Given the description of an element on the screen output the (x, y) to click on. 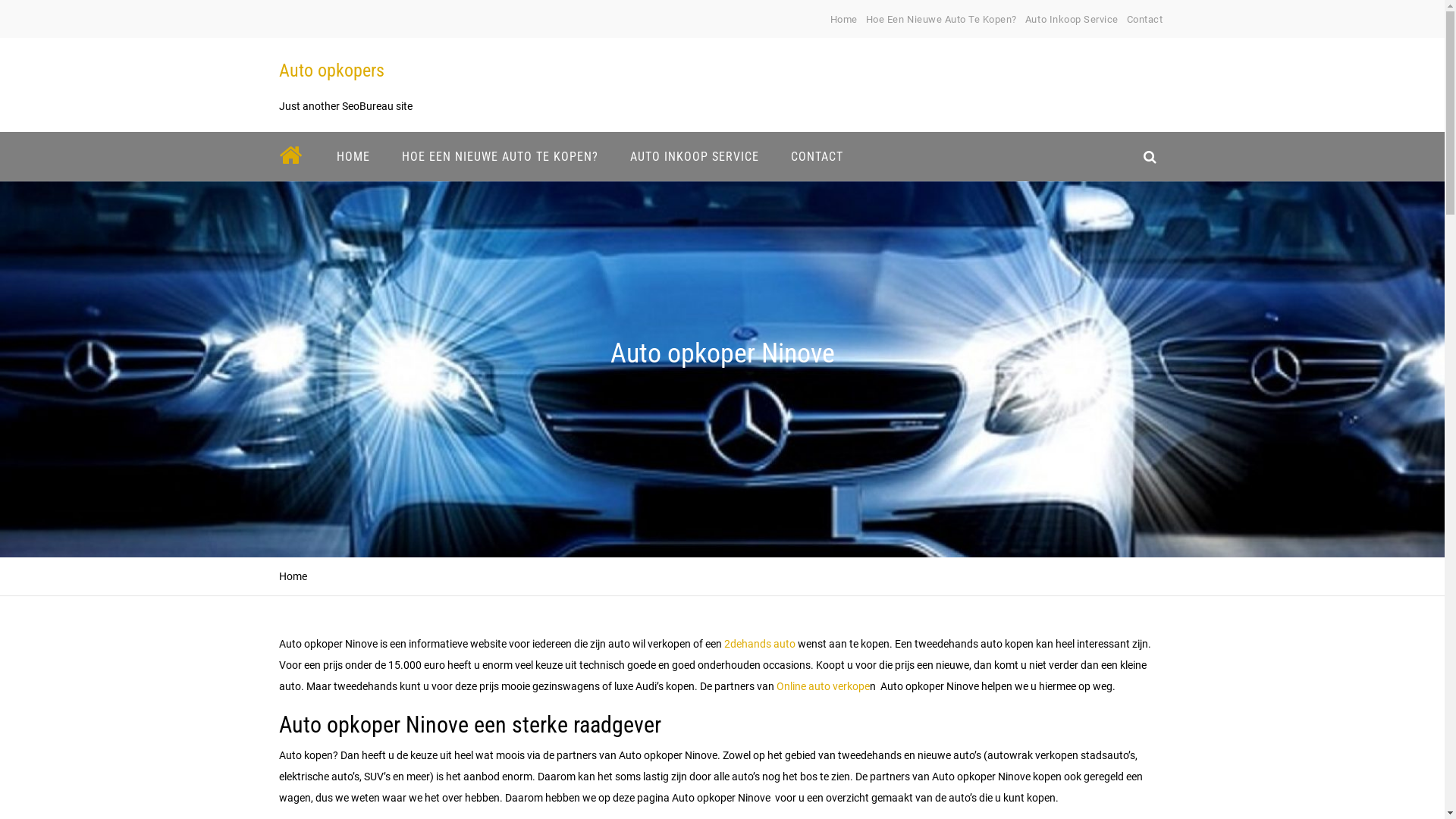
AUTO INKOOP SERVICE Element type: text (694, 156)
HOE EEN NIEUWE AUTO TE KOPEN? Element type: text (499, 156)
Auto opkopers Element type: text (331, 70)
Hoe Een Nieuwe Auto Te Kopen? Element type: text (941, 19)
Contact Element type: text (1144, 19)
Online auto verkope Element type: text (822, 686)
Auto Inkoop Service Element type: text (1071, 19)
Home Element type: text (843, 19)
CONTACT Element type: text (817, 156)
search_icon Element type: hover (1148, 156)
HOME Element type: text (352, 156)
2dehands auto Element type: text (758, 643)
